Given the description of an element on the screen output the (x, y) to click on. 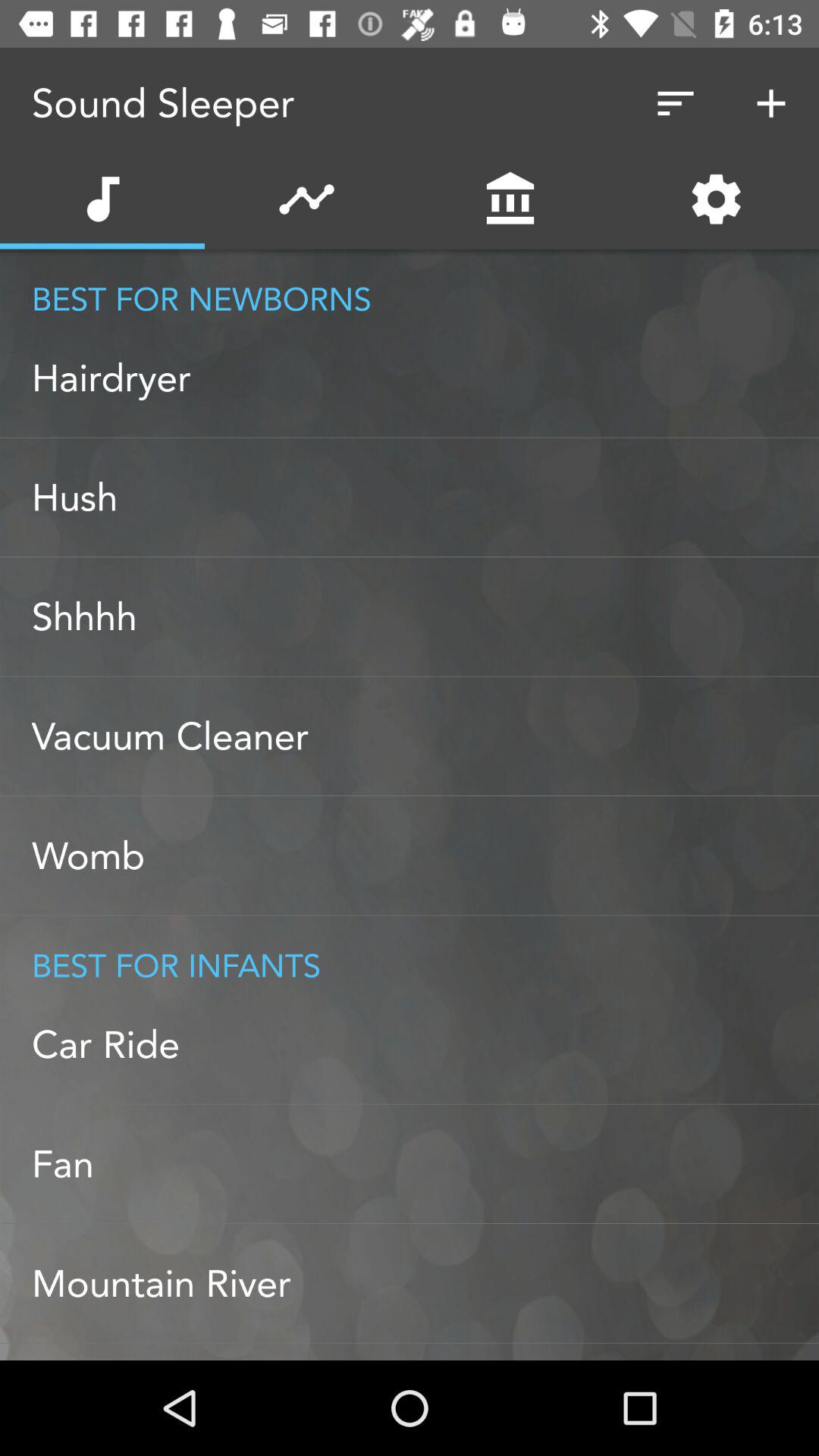
scroll until hairdryer (425, 377)
